Given the description of an element on the screen output the (x, y) to click on. 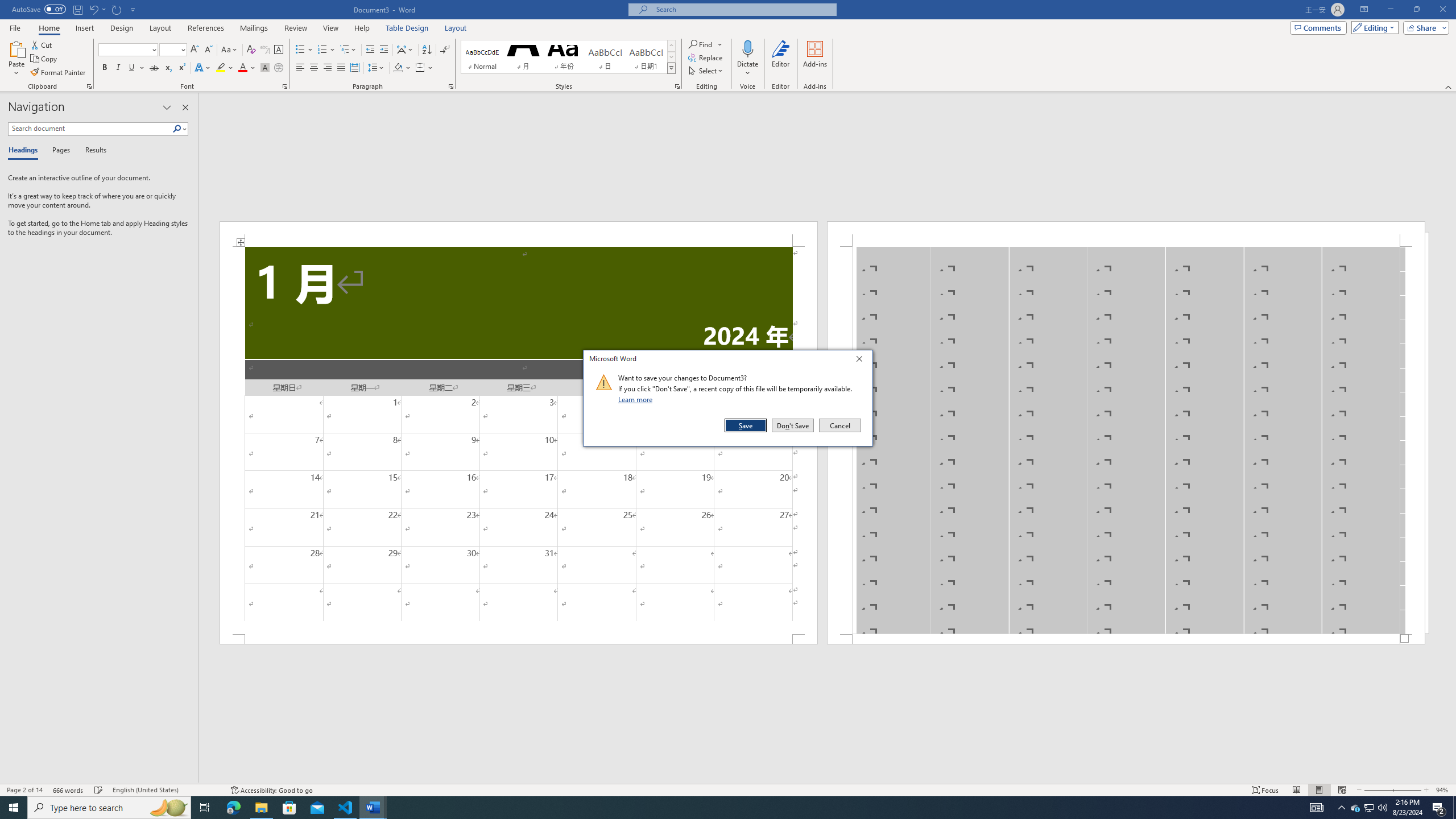
Font (128, 49)
Class: NetUIImage (603, 382)
Format Painter (58, 72)
Font... (285, 85)
Multilevel List (347, 49)
Cancel (839, 425)
Center (313, 67)
Visual Studio Code - 1 running window (345, 807)
Footer -Section 1- (1126, 638)
Character Shading (264, 67)
Customize Quick Access Toolbar (133, 9)
Text Effects and Typography (202, 67)
